Given the description of an element on the screen output the (x, y) to click on. 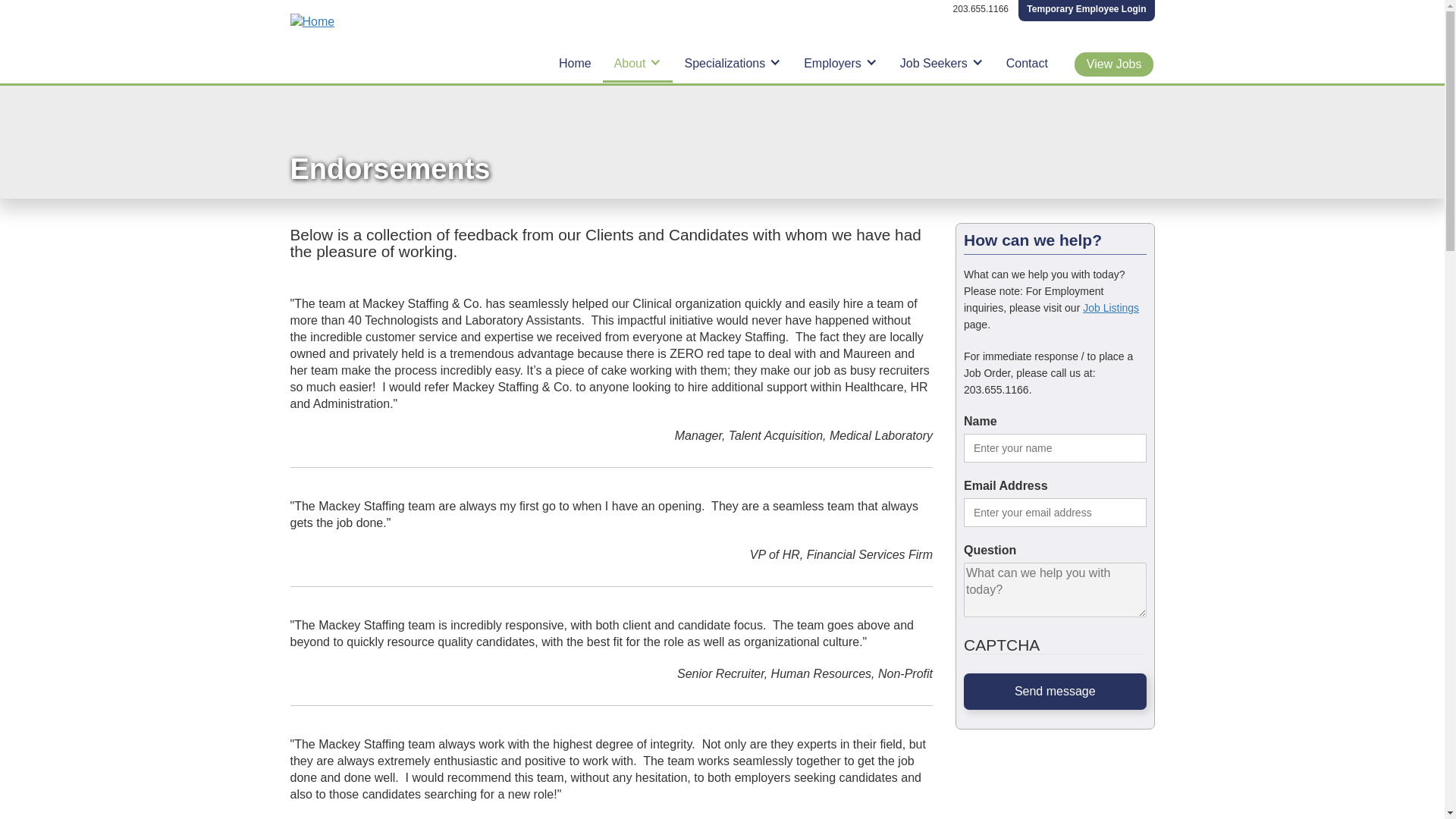
About (637, 63)
Specializations (732, 63)
Send message (1055, 691)
Preview (111, 18)
View Jobs (1114, 64)
Send message (1055, 691)
Contact (1026, 63)
Job Listings (1110, 307)
Home (574, 63)
